Given the description of an element on the screen output the (x, y) to click on. 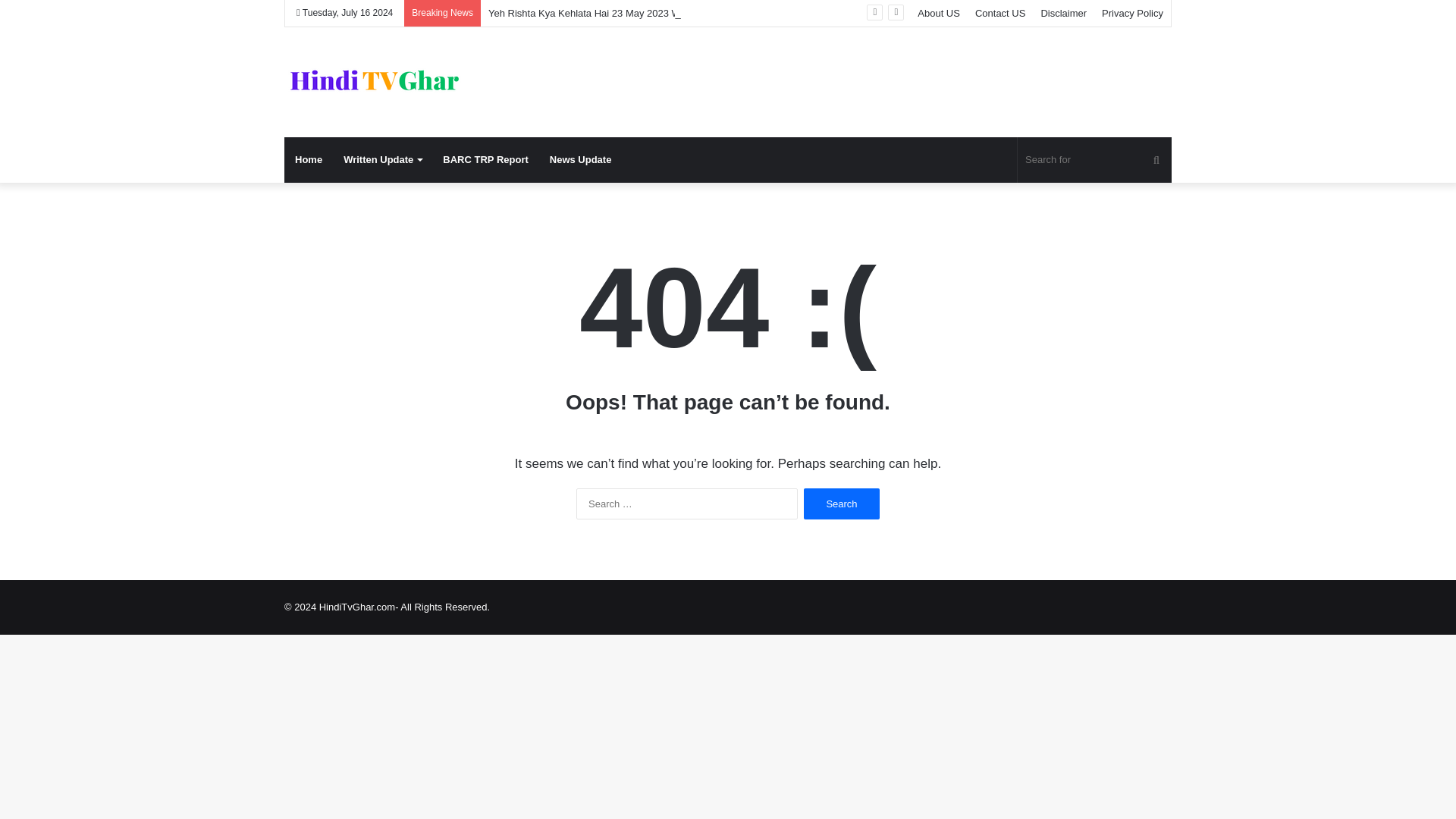
Written Update (382, 159)
About US (939, 13)
Home (308, 159)
Privacy Policy (1132, 13)
Disclaimer (1063, 13)
Search for (1094, 159)
Contact US (1000, 13)
Yeh Rishta Kya Kehlata Hai 23 May 2023 Written Story Update (624, 12)
Search (841, 503)
Latest Hindi TV Serials Written Episode And News Updates (375, 82)
Search (841, 503)
